Given the description of an element on the screen output the (x, y) to click on. 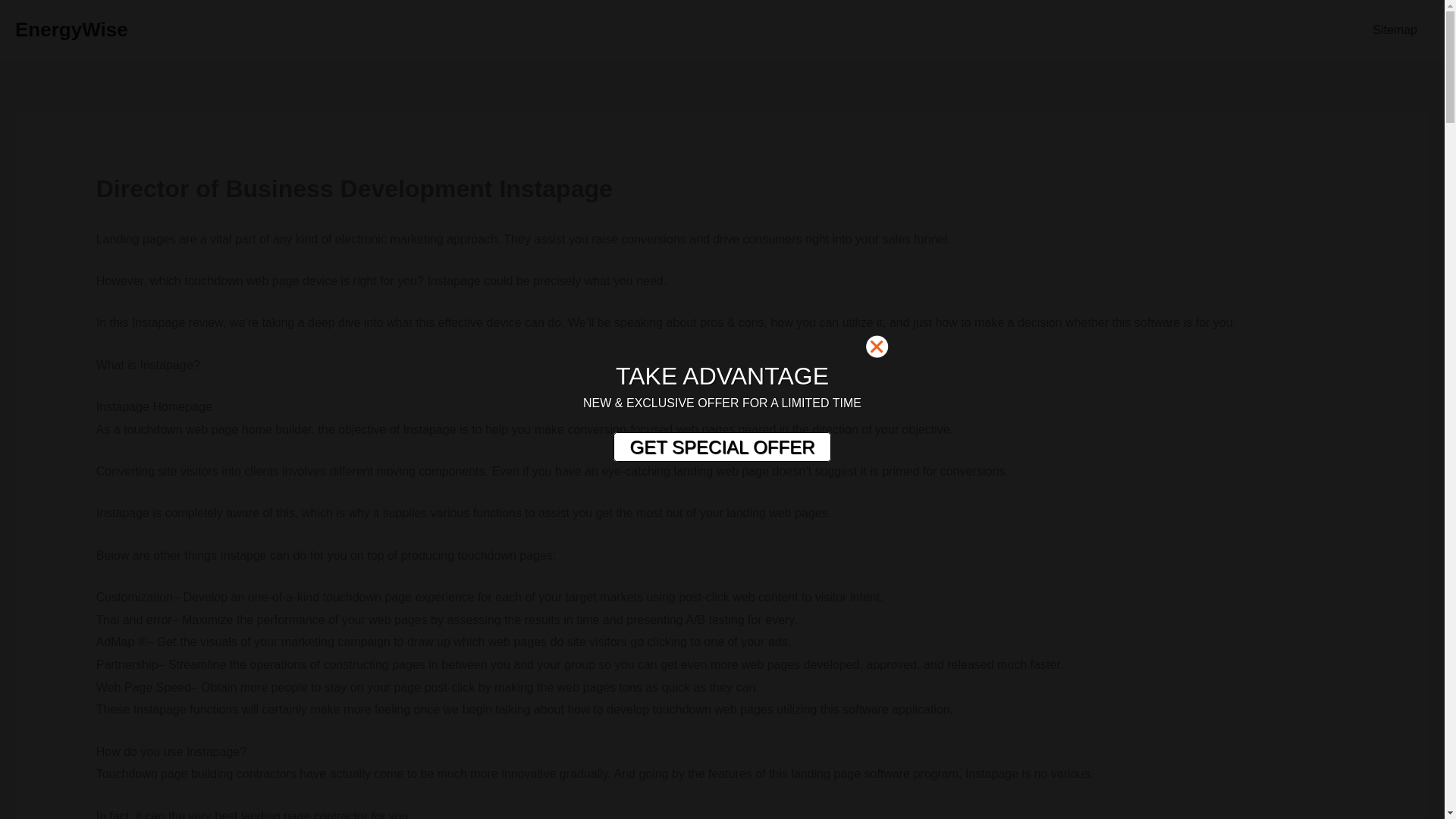
GET SPECIAL OFFER (720, 446)
EnergyWise (71, 29)
Sitemap (1394, 30)
